Given the description of an element on the screen output the (x, y) to click on. 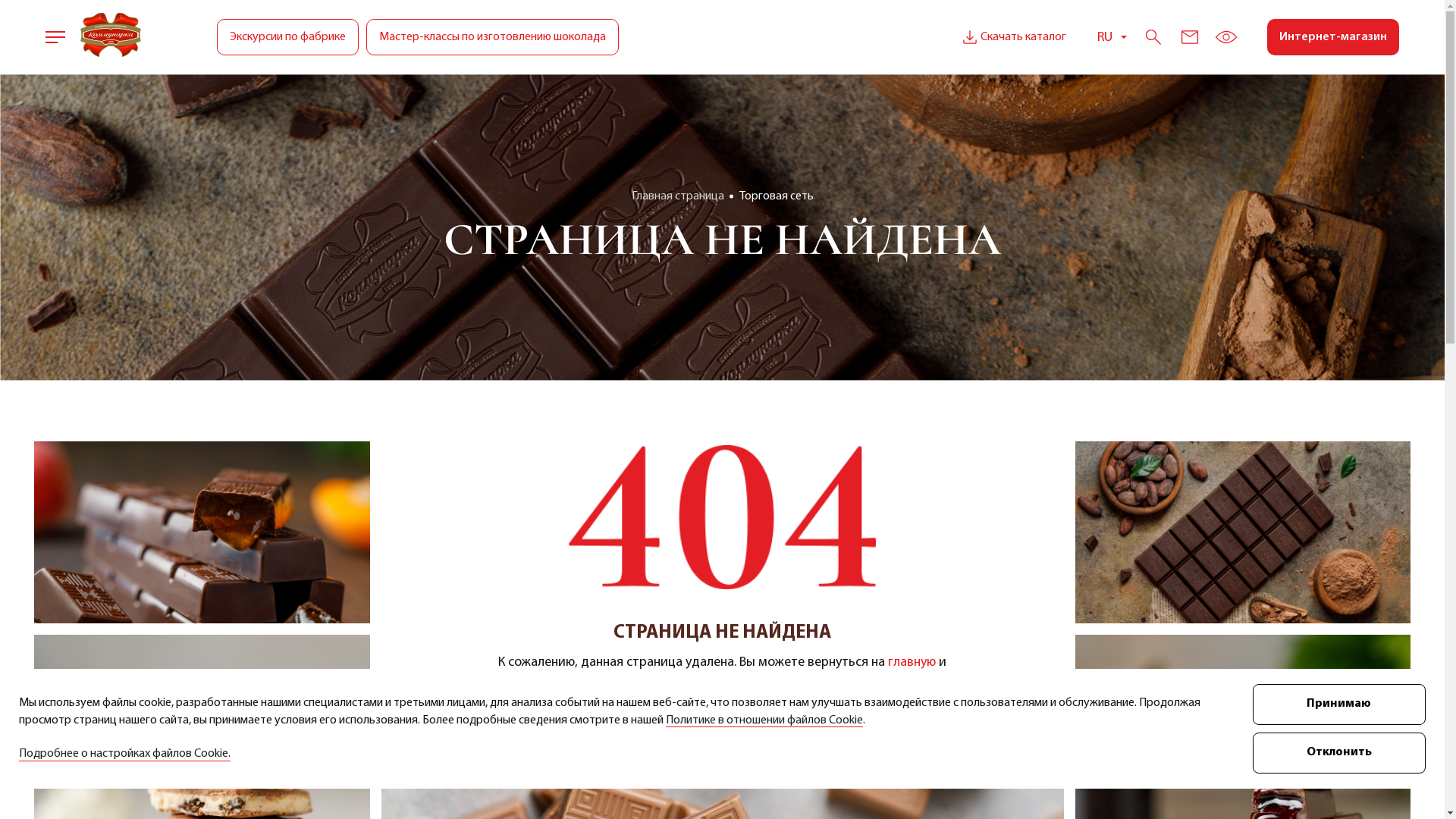
RU Element type: text (1111, 37)
